Given the description of an element on the screen output the (x, y) to click on. 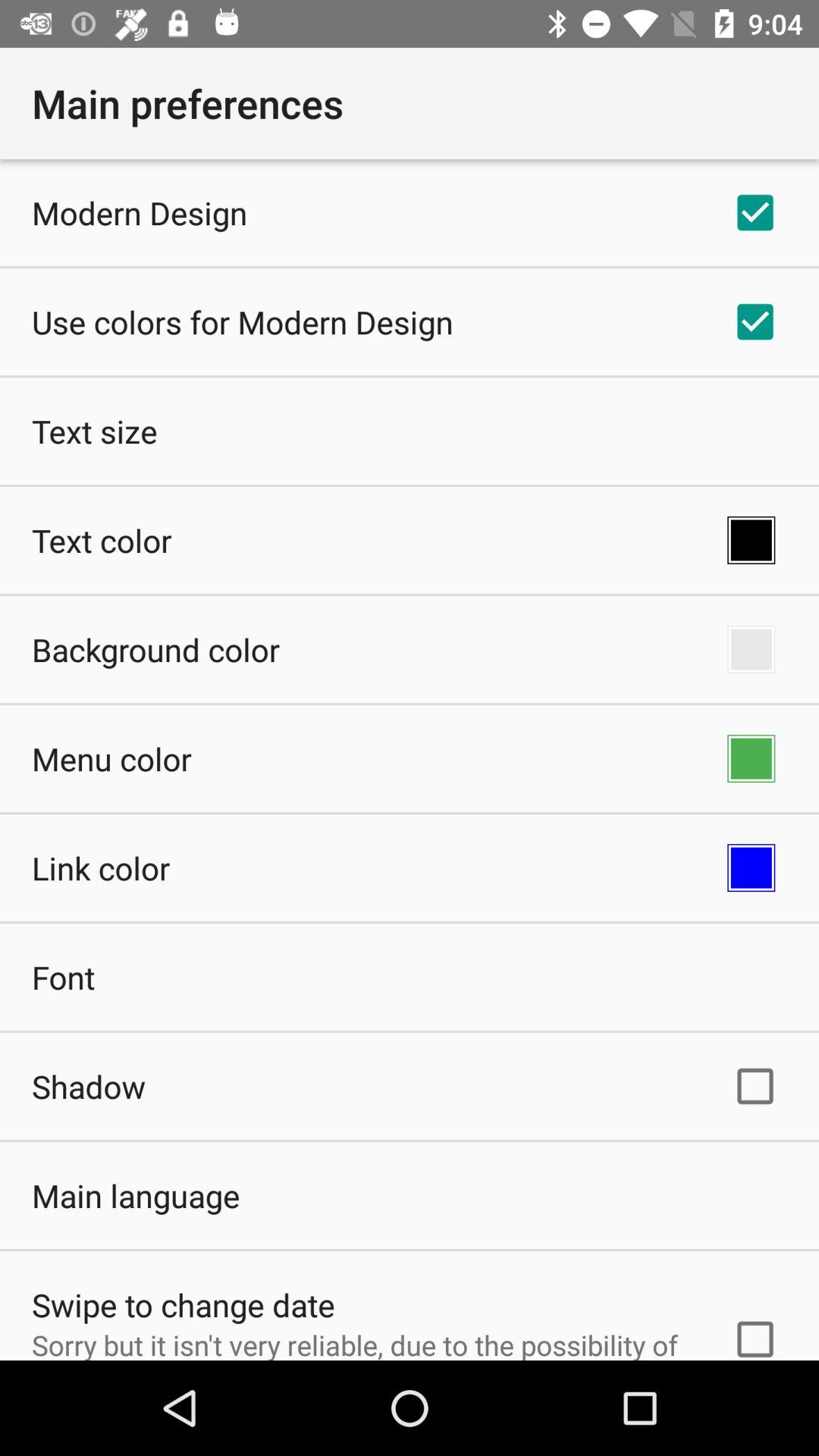
press the icon below main language icon (182, 1304)
